Given the description of an element on the screen output the (x, y) to click on. 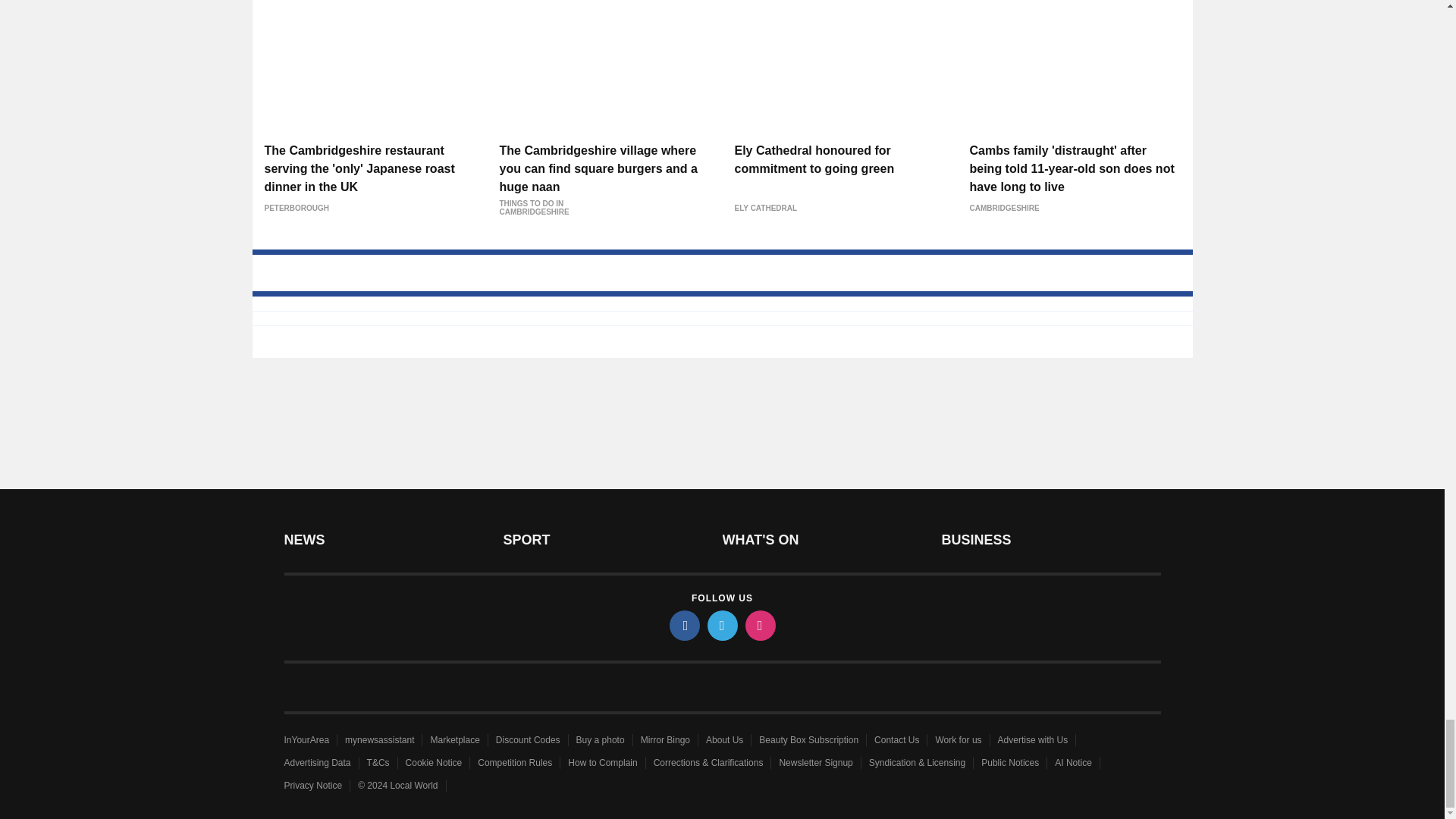
facebook (683, 625)
twitter (721, 625)
instagram (759, 625)
